Given the description of an element on the screen output the (x, y) to click on. 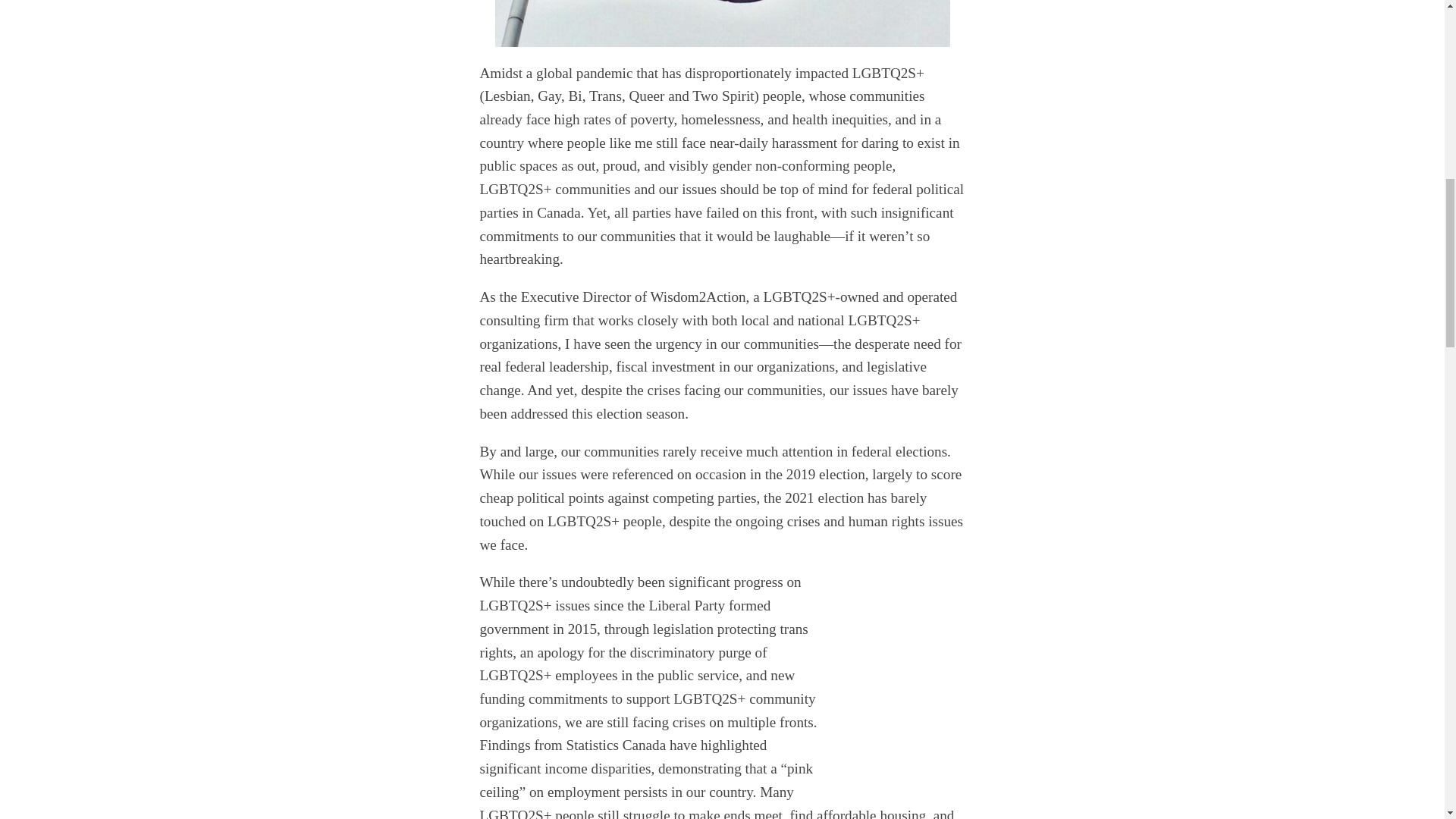
3rd party ad content (959, 665)
